Given the description of an element on the screen output the (x, y) to click on. 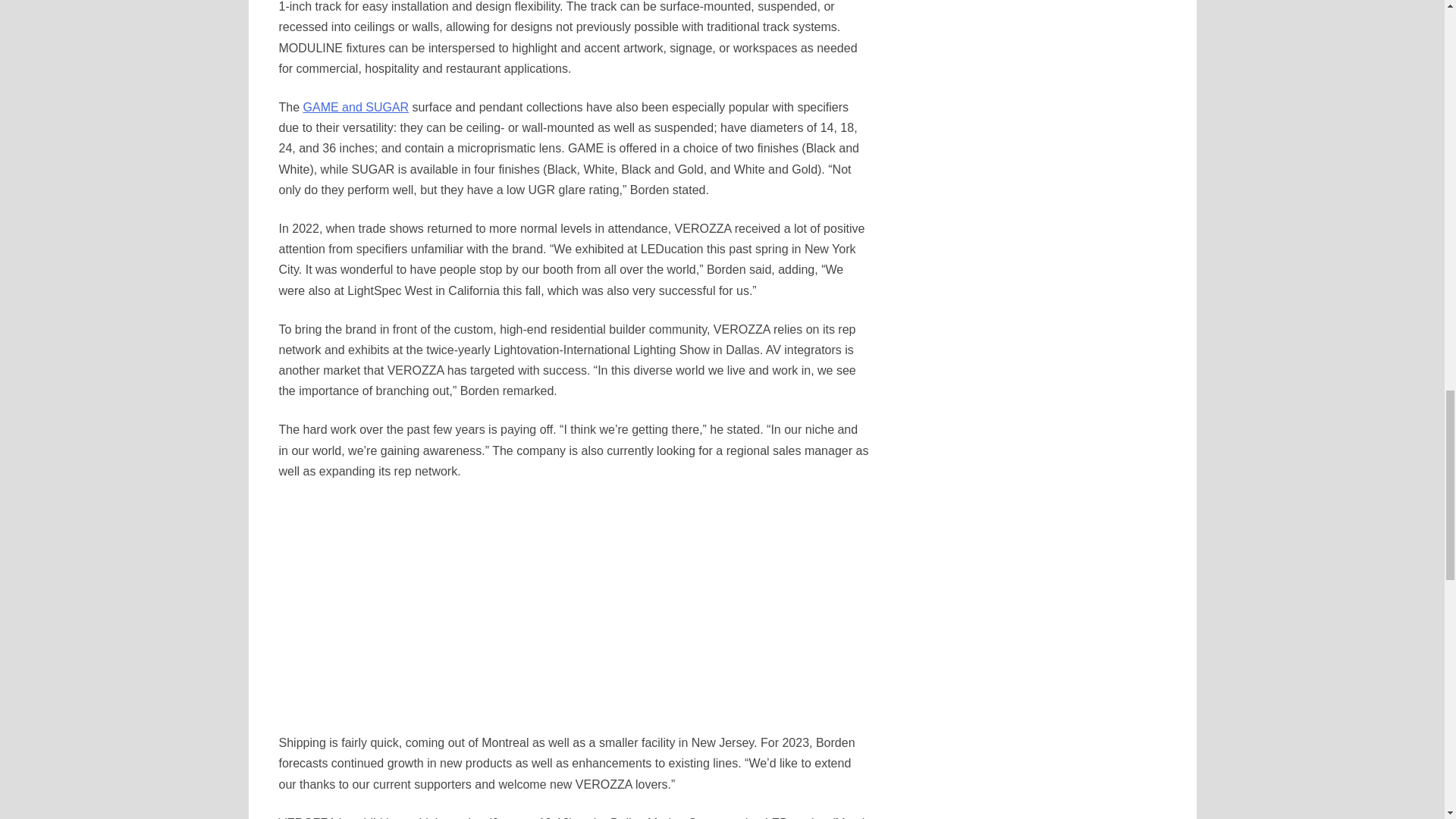
GAME and SUGAR (355, 106)
